Given the description of an element on the screen output the (x, y) to click on. 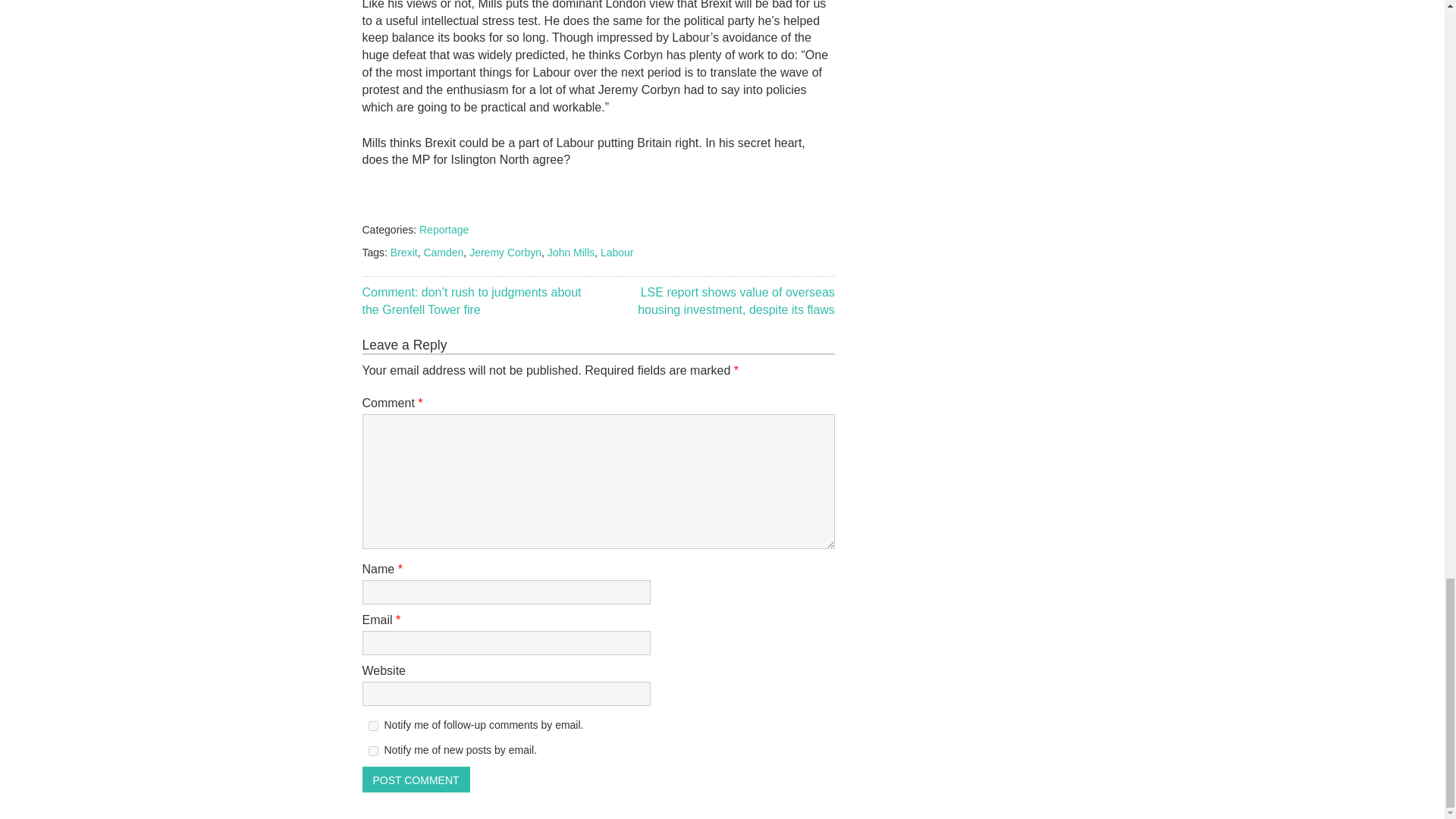
subscribe (373, 750)
Post Comment (416, 779)
subscribe (373, 726)
